Given the description of an element on the screen output the (x, y) to click on. 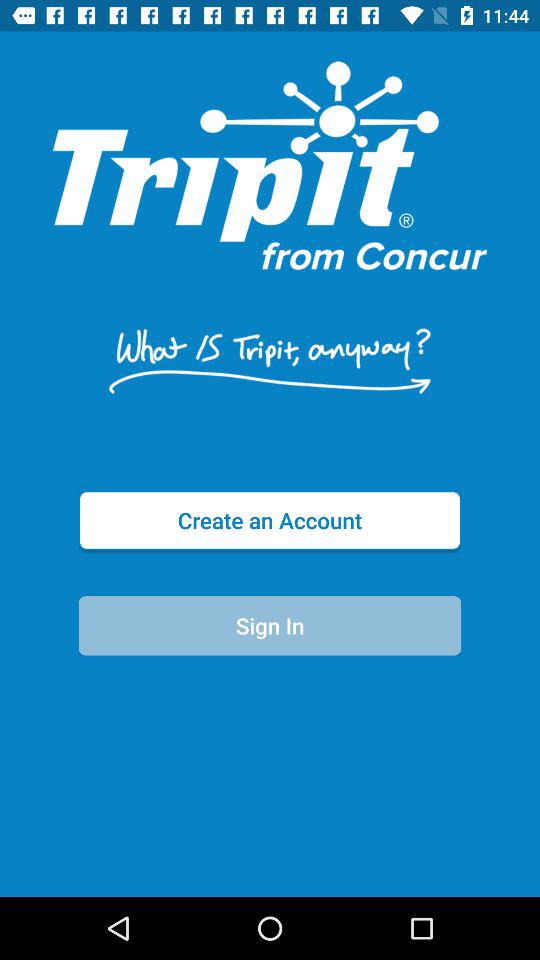
turn on the item above create an account (269, 360)
